Given the description of an element on the screen output the (x, y) to click on. 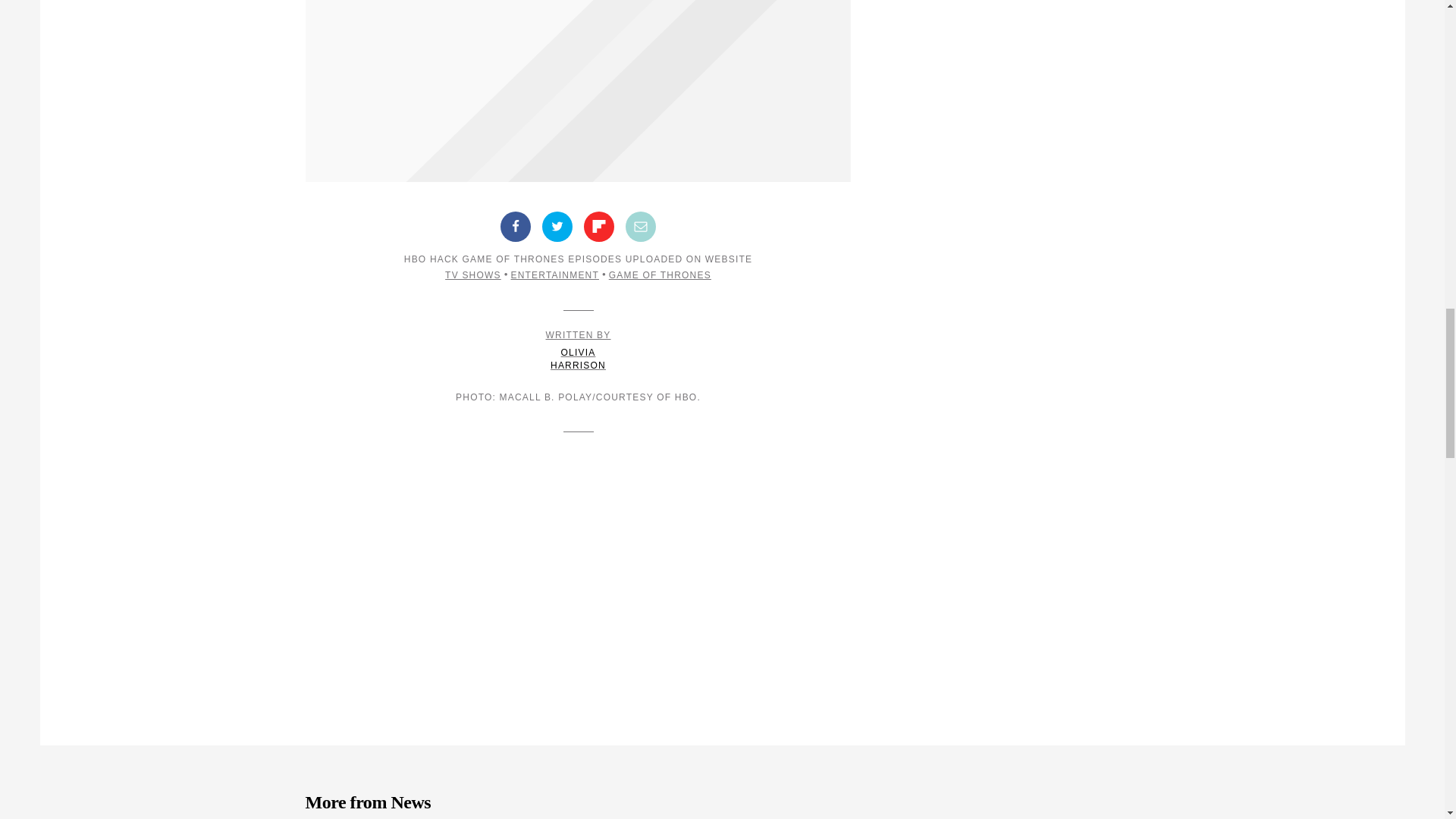
GAME OF THRONES (659, 275)
ENTERTAINMENT (554, 275)
Share on Flipboard (598, 226)
Share by Email (641, 226)
Share on Facebook (515, 226)
Share on Twitter (577, 350)
TV SHOWS (556, 226)
